Given the description of an element on the screen output the (x, y) to click on. 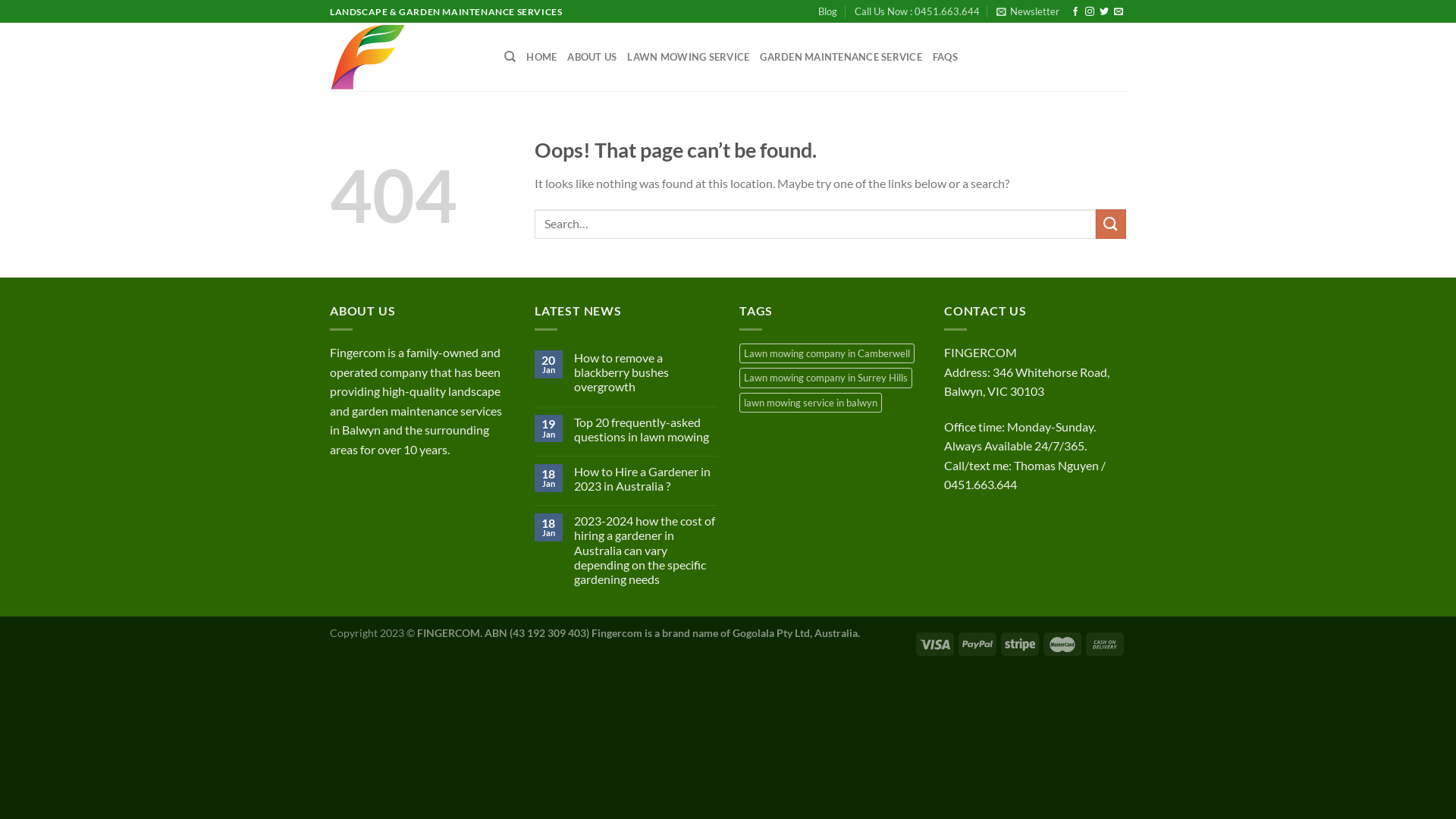
Newsletter Element type: text (1027, 11)
GARDEN MAINTENANCE SERVICE Element type: text (840, 56)
lawn mowing service in balwyn Element type: text (810, 402)
Blog Element type: text (827, 11)
Top 20 frequently-asked questions in lawn mowing Element type: text (645, 428)
Lawn mowing company in Surrey Hills Element type: text (825, 377)
HOME Element type: text (541, 56)
How to remove a blackberry bushes overgrowth Element type: text (645, 372)
Lawn mowing company in Camberwell Element type: text (826, 353)
ABOUT US Element type: text (591, 56)
How to Hire a Gardener in 2023 in Australia ? Element type: text (645, 478)
FAQS Element type: text (944, 56)
Call Us Now : 0451.663.644 Element type: text (916, 11)
LAWN MOWING SERVICE Element type: text (688, 56)
